Given the description of an element on the screen output the (x, y) to click on. 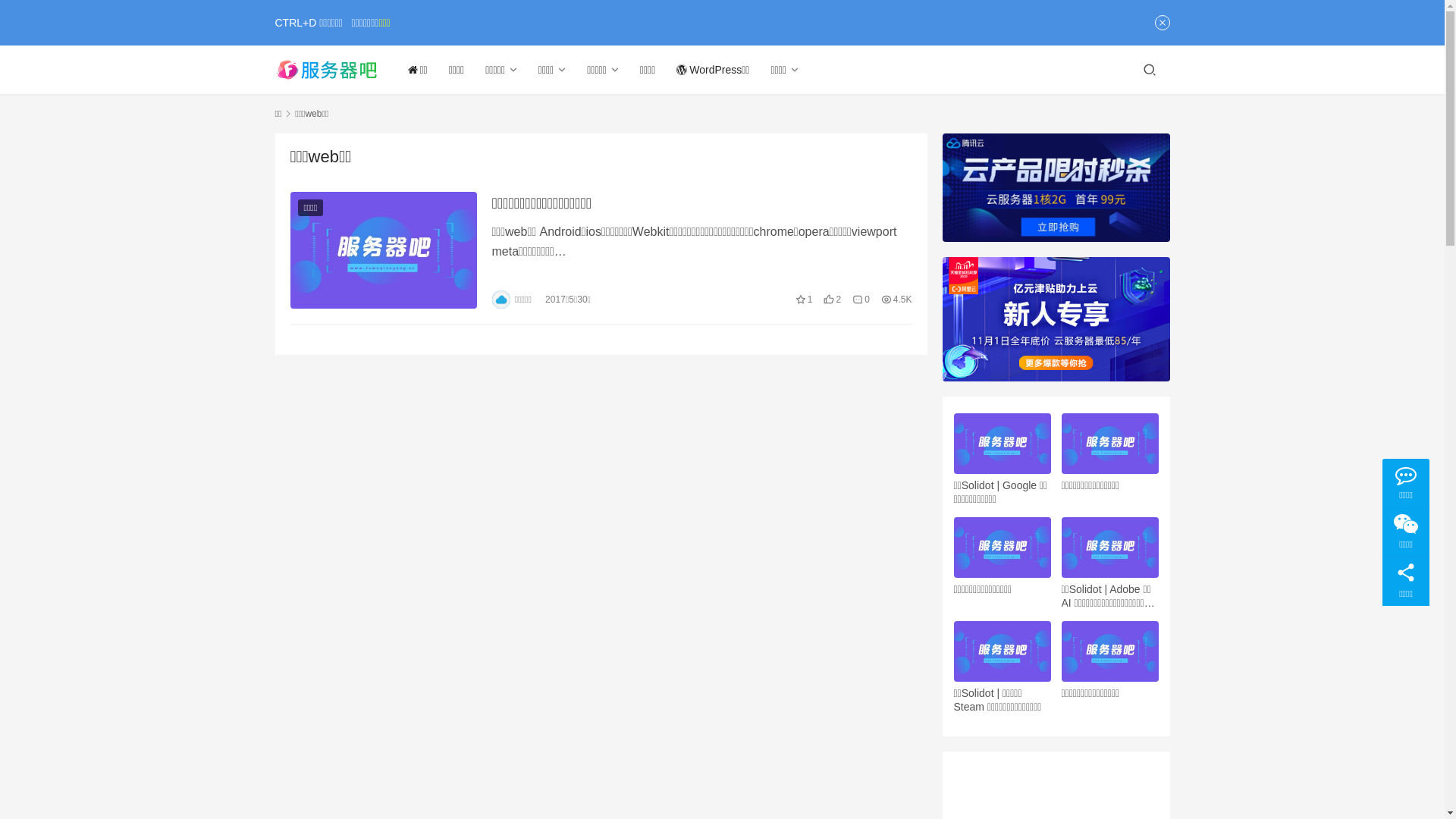
0 Element type: text (860, 299)
